Given the description of an element on the screen output the (x, y) to click on. 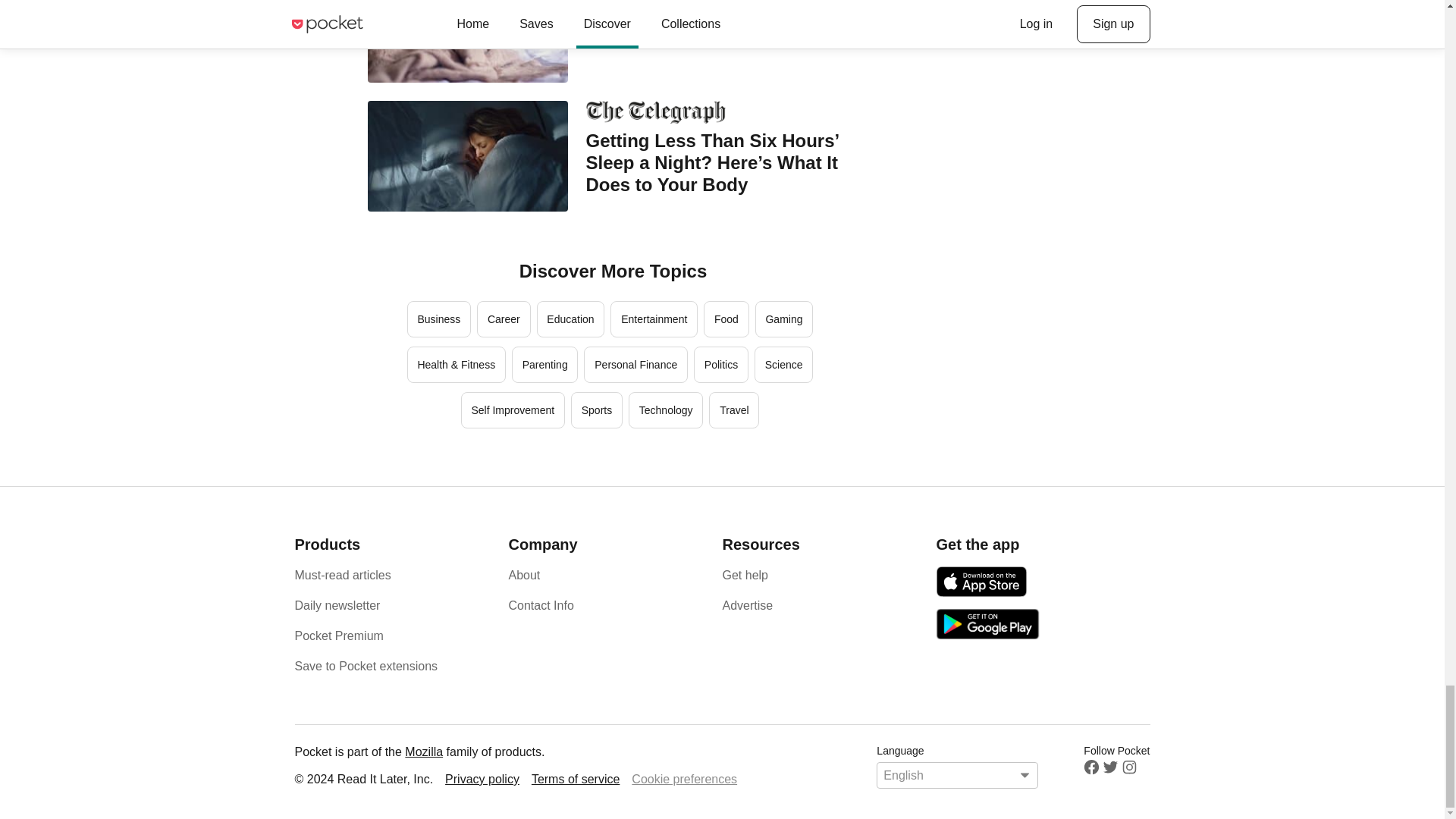
Facebook (1091, 766)
Instagram (1129, 766)
Career (503, 319)
Business (438, 319)
Entertainment (653, 319)
Twitter (1110, 766)
Food (726, 319)
Education (571, 319)
